Given the description of an element on the screen output the (x, y) to click on. 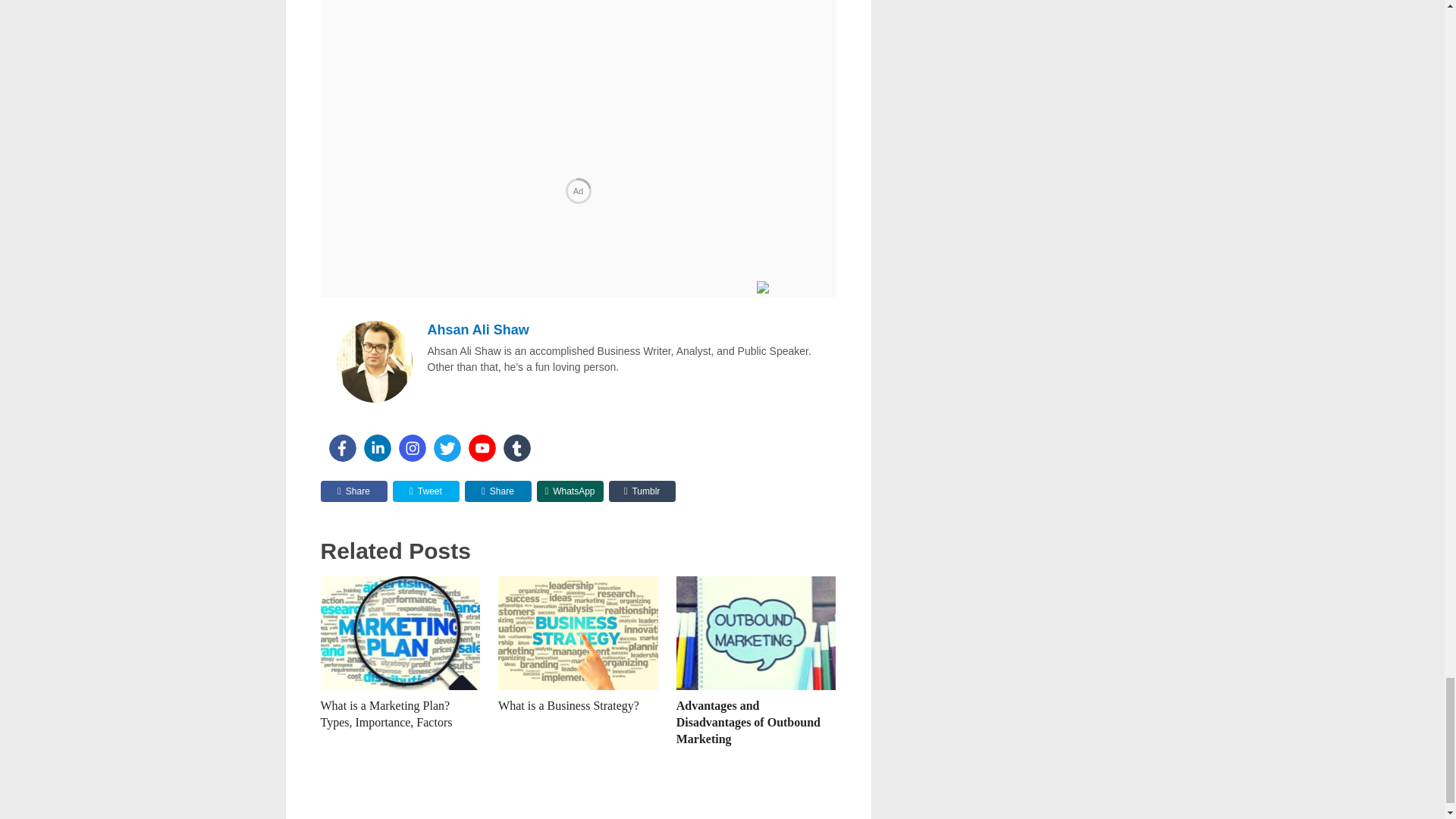
Share (353, 491)
What is a Business Strategy? (577, 633)
What is a Business Strategy? (568, 705)
Ahsan Ali Shaw (478, 329)
